Given the description of an element on the screen output the (x, y) to click on. 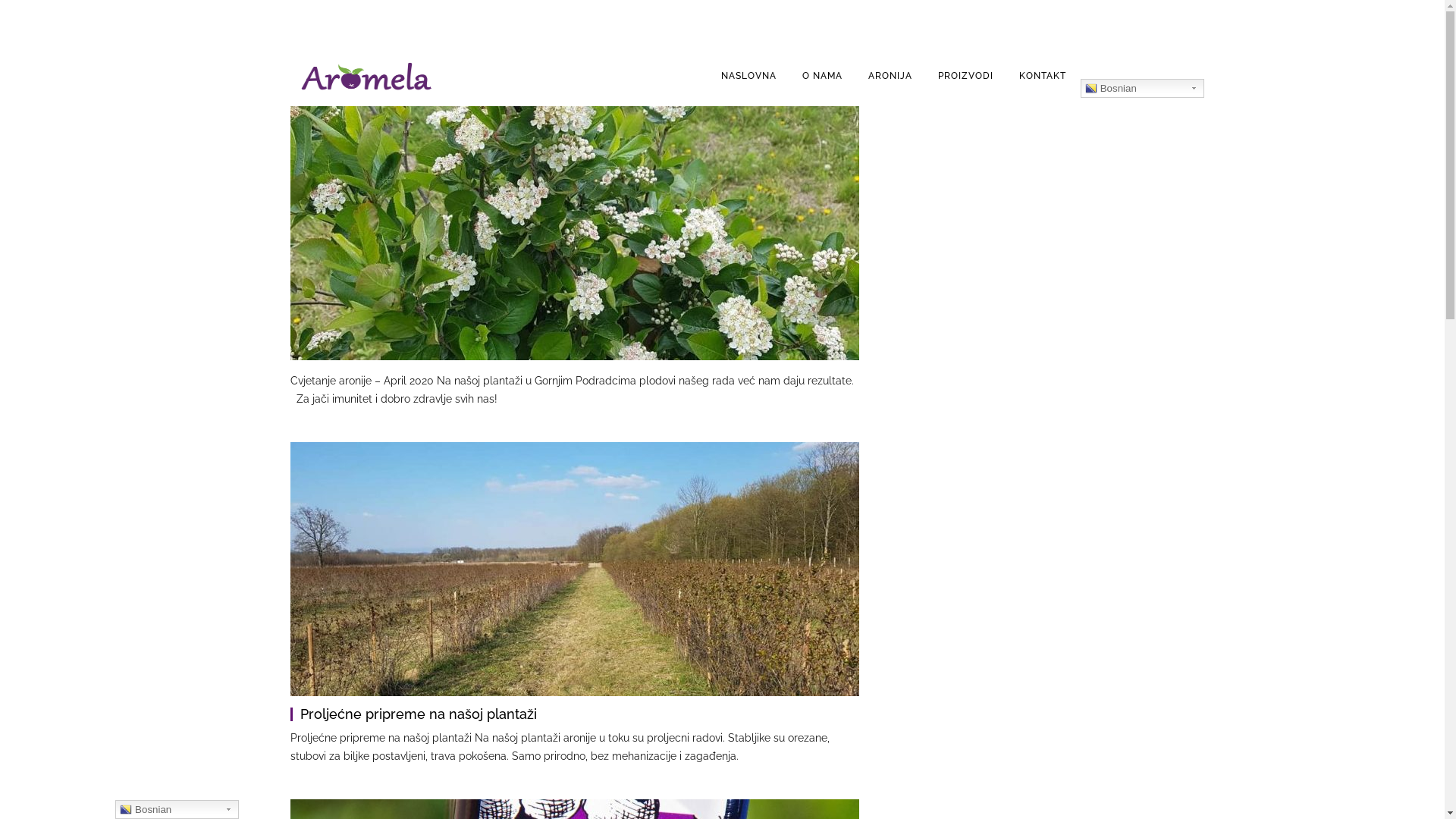
O NAMA Element type: text (821, 75)
NASLOVNA Element type: text (748, 75)
ARONIJA Element type: text (889, 75)
PROIZVODI Element type: text (965, 75)
Bosnian Element type: text (1142, 87)
KONTAKT Element type: text (1042, 75)
